Given the description of an element on the screen output the (x, y) to click on. 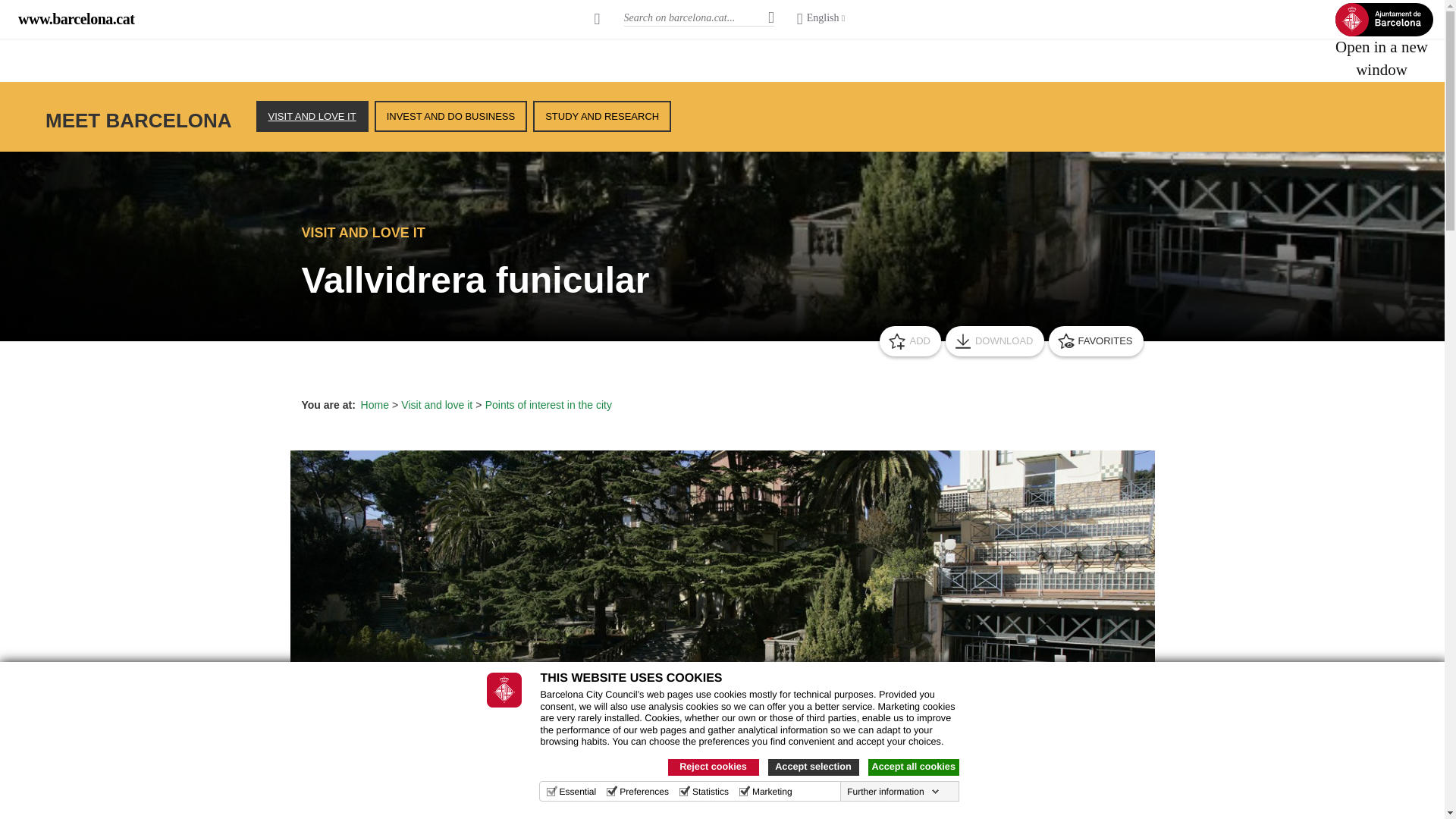
Further information (893, 791)
Accept selection (813, 767)
Reject cookies (712, 767)
Accept all cookies (912, 767)
